Given the description of an element on the screen output the (x, y) to click on. 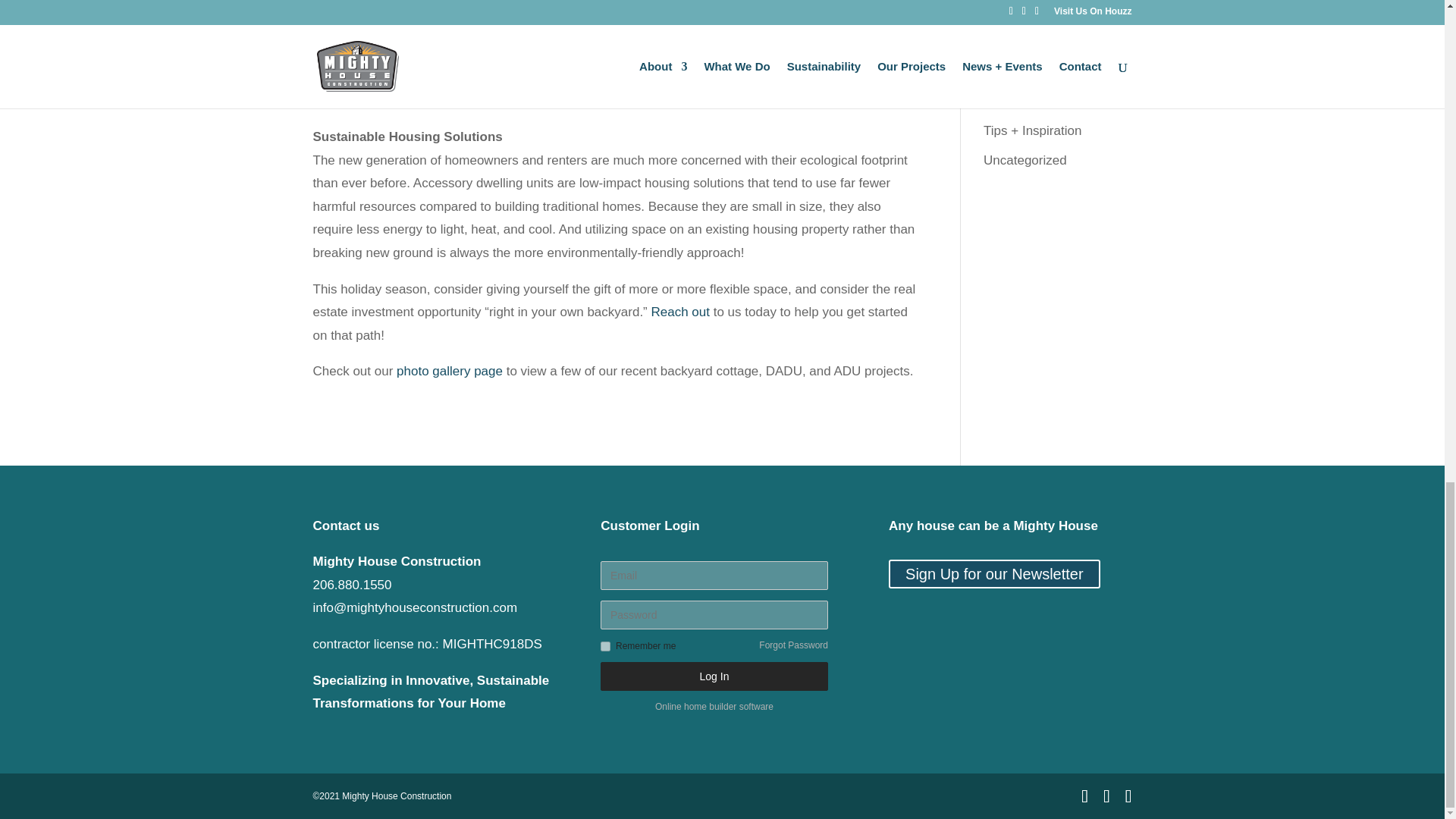
photo gallery page (449, 370)
Reach out (680, 311)
